Given the description of an element on the screen output the (x, y) to click on. 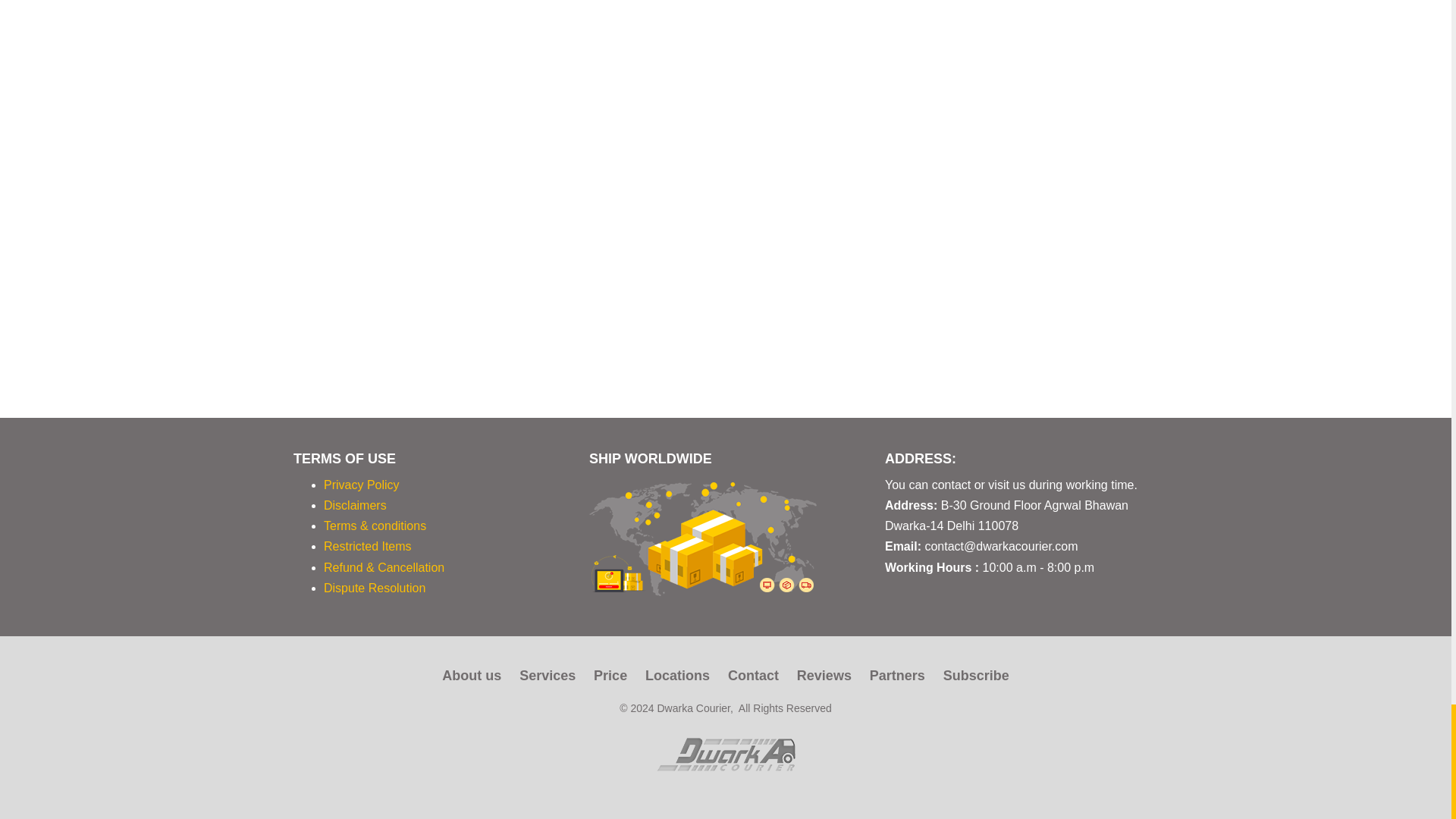
Services (547, 675)
Locations (677, 675)
Price (610, 675)
Partners (896, 675)
About us (471, 675)
Reviews (823, 675)
Contact (753, 675)
Subscribe (976, 675)
